Given the description of an element on the screen output the (x, y) to click on. 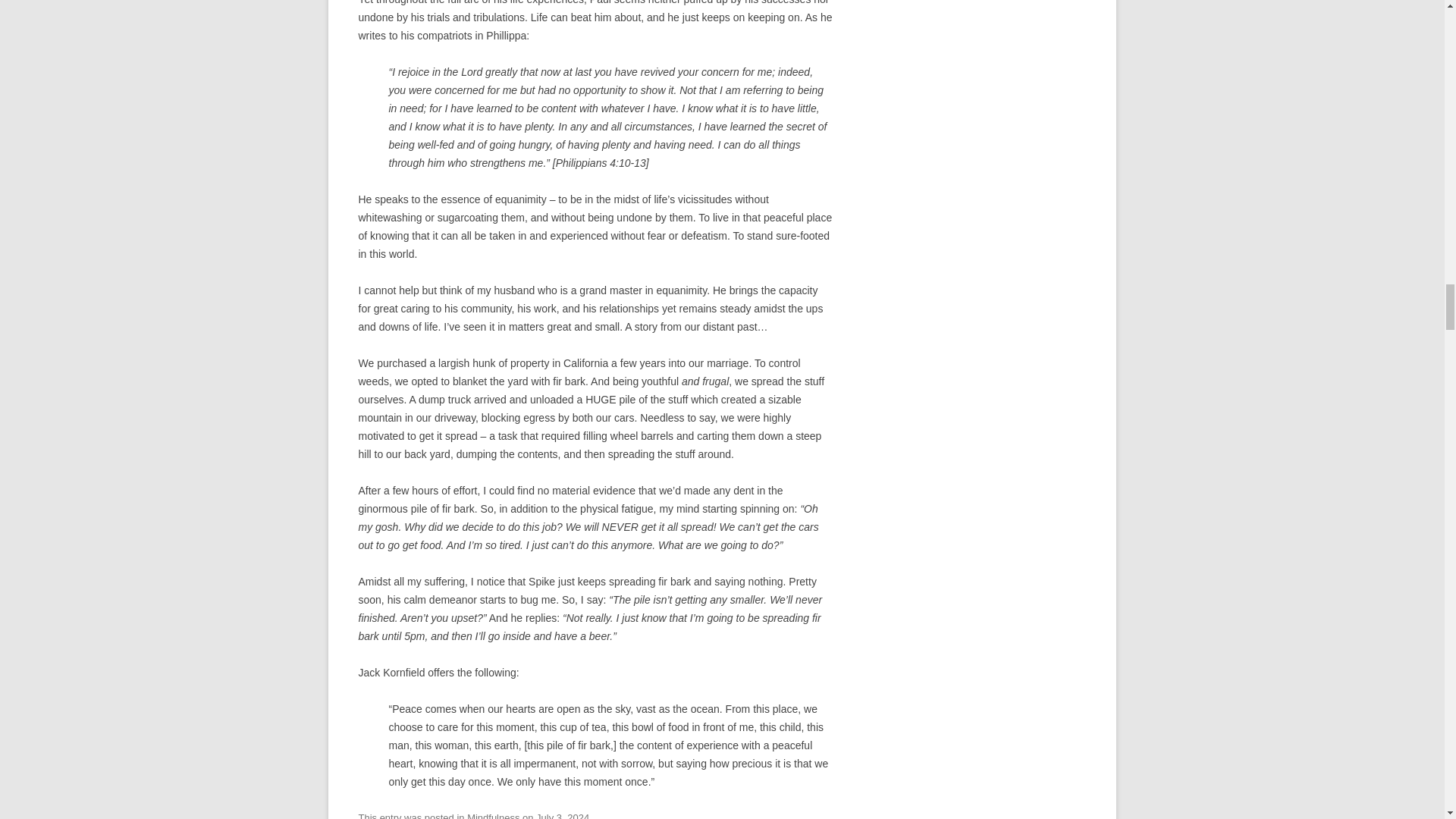
July 3, 2024 (562, 815)
6:00 am (562, 815)
Mindfulness (493, 815)
